Given the description of an element on the screen output the (x, y) to click on. 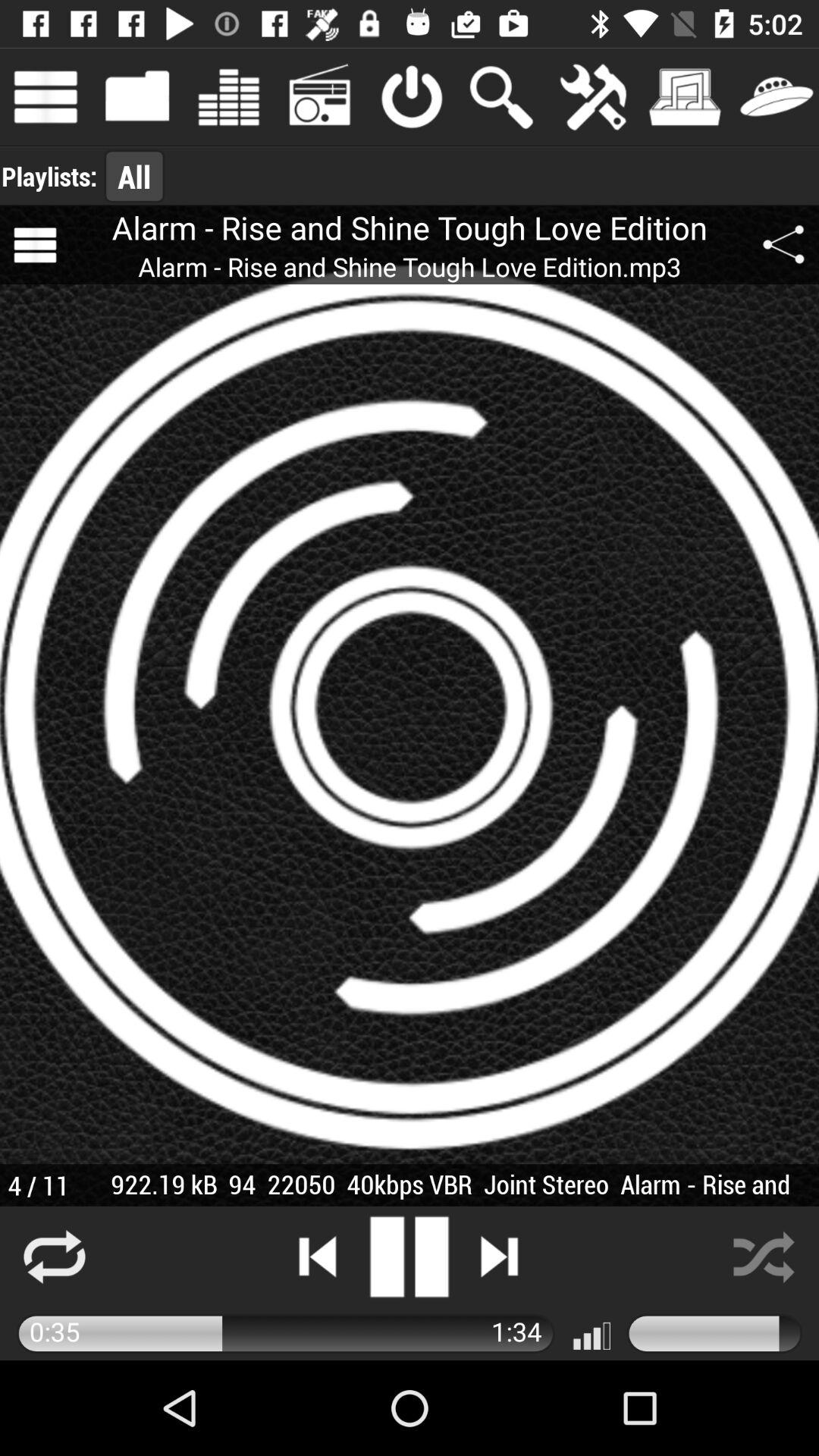
scroll until the playlists: (49, 175)
